Given the description of an element on the screen output the (x, y) to click on. 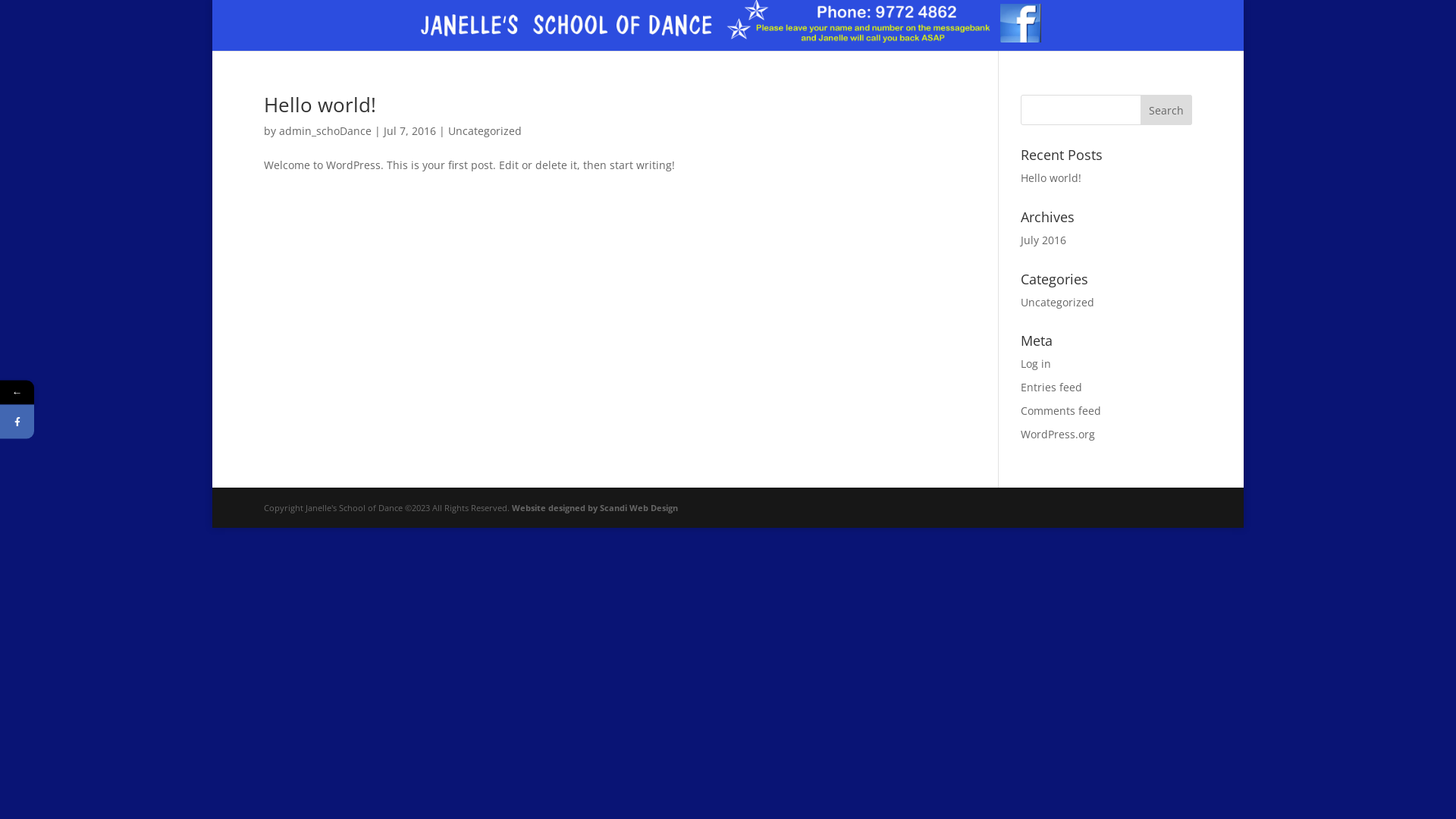
Comments feed Element type: text (1060, 410)
Facebook Element type: text (86, 421)
Hello world! Element type: text (1050, 177)
Search Element type: text (1166, 109)
Uncategorized Element type: text (1057, 301)
admin_schoDance Element type: text (325, 130)
WordPress.org Element type: text (1057, 433)
Log in Element type: text (1035, 363)
Entries feed Element type: text (1051, 386)
Website designed by Scandi Web Design Element type: text (594, 507)
Hello world! Element type: text (319, 104)
July 2016 Element type: text (1043, 239)
Uncategorized Element type: text (484, 130)
